Given the description of an element on the screen output the (x, y) to click on. 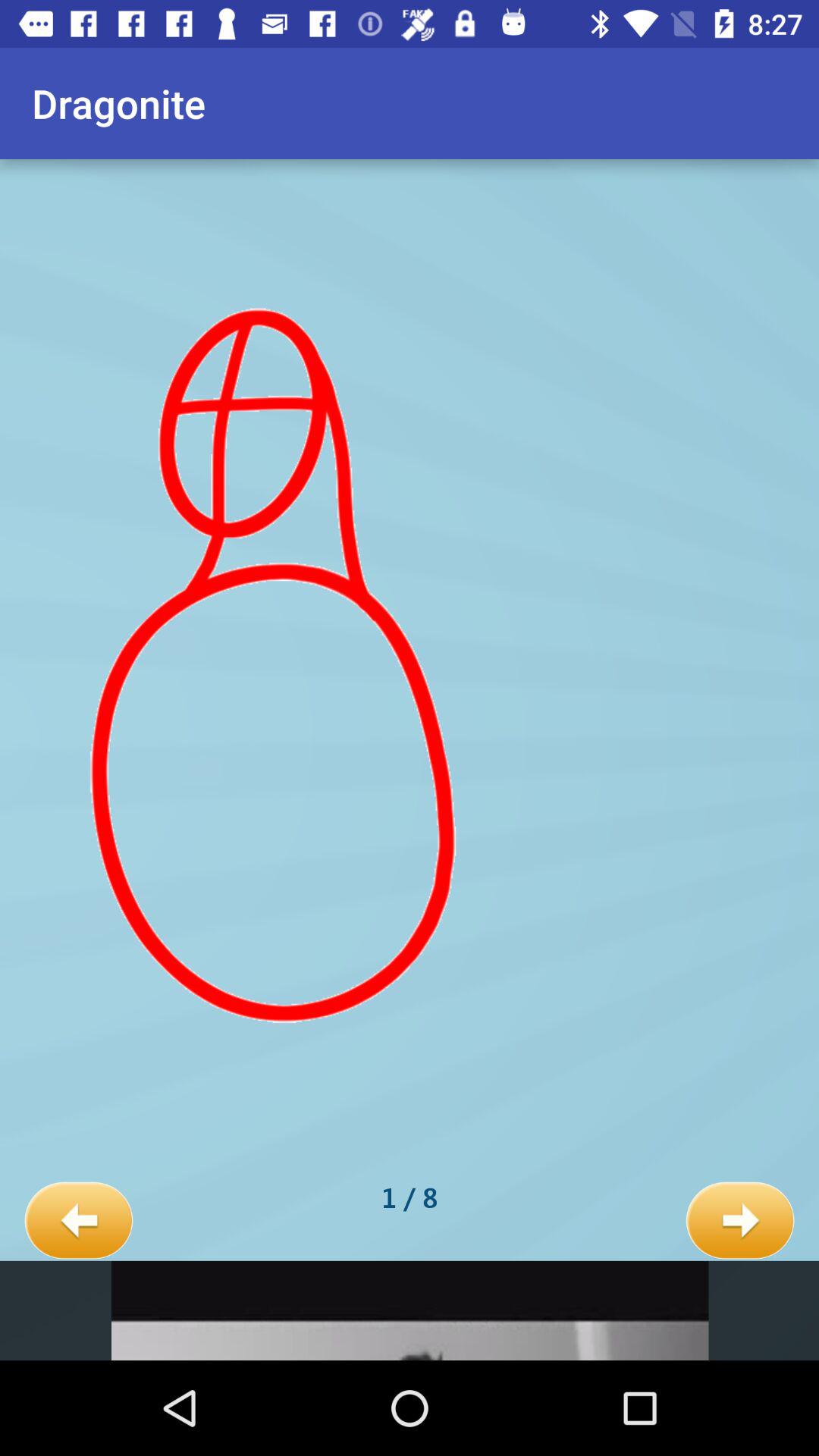
turn on item at the bottom right corner (740, 1220)
